Given the description of an element on the screen output the (x, y) to click on. 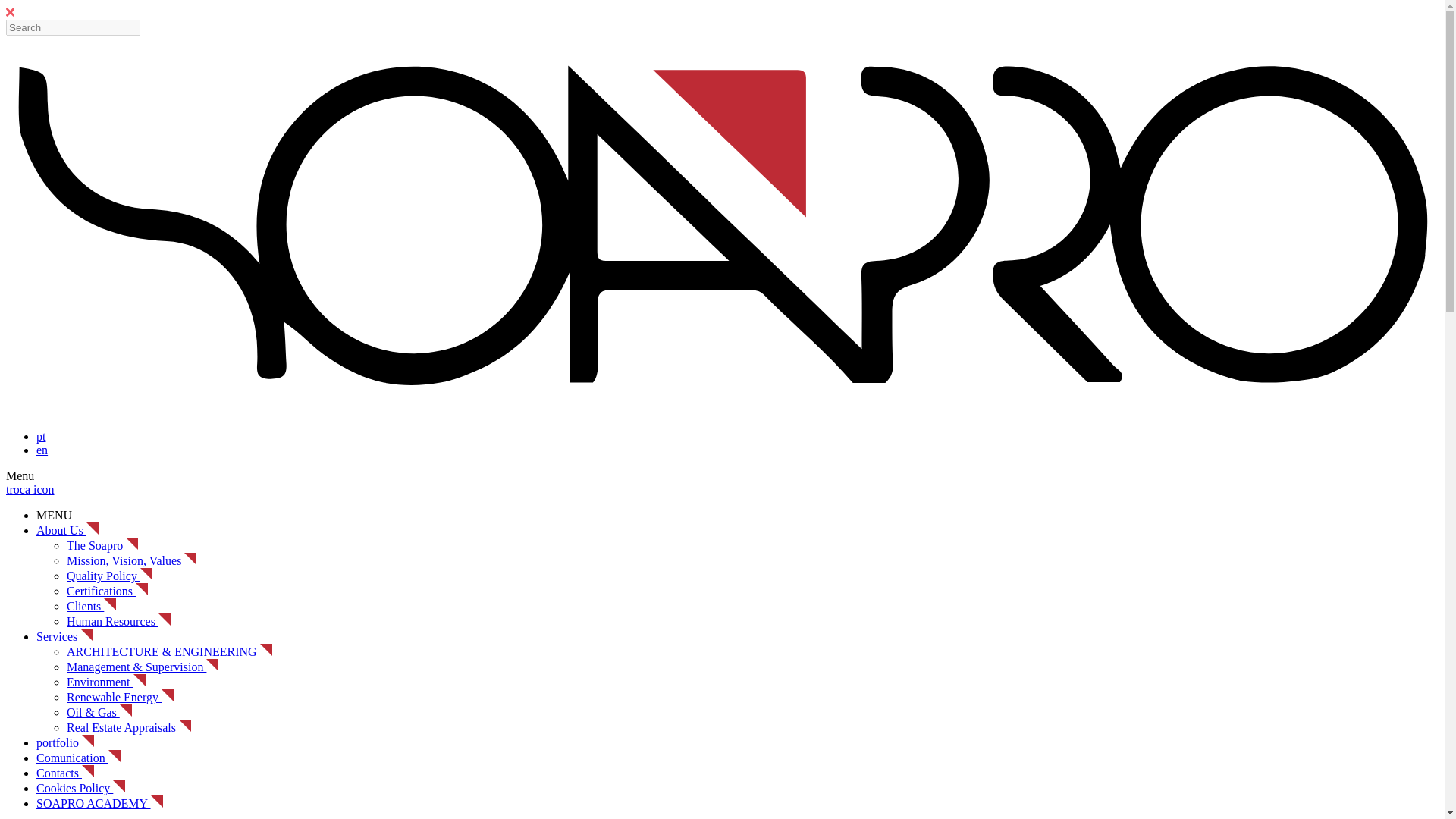
Cookies Policy (80, 788)
Real Estate Appraisals (128, 727)
Clients (91, 605)
About Us (67, 530)
Comunication (78, 757)
Services (64, 635)
Environment (105, 681)
The Soapro (102, 545)
Human Resources (118, 621)
Contacts (65, 772)
